Given the description of an element on the screen output the (x, y) to click on. 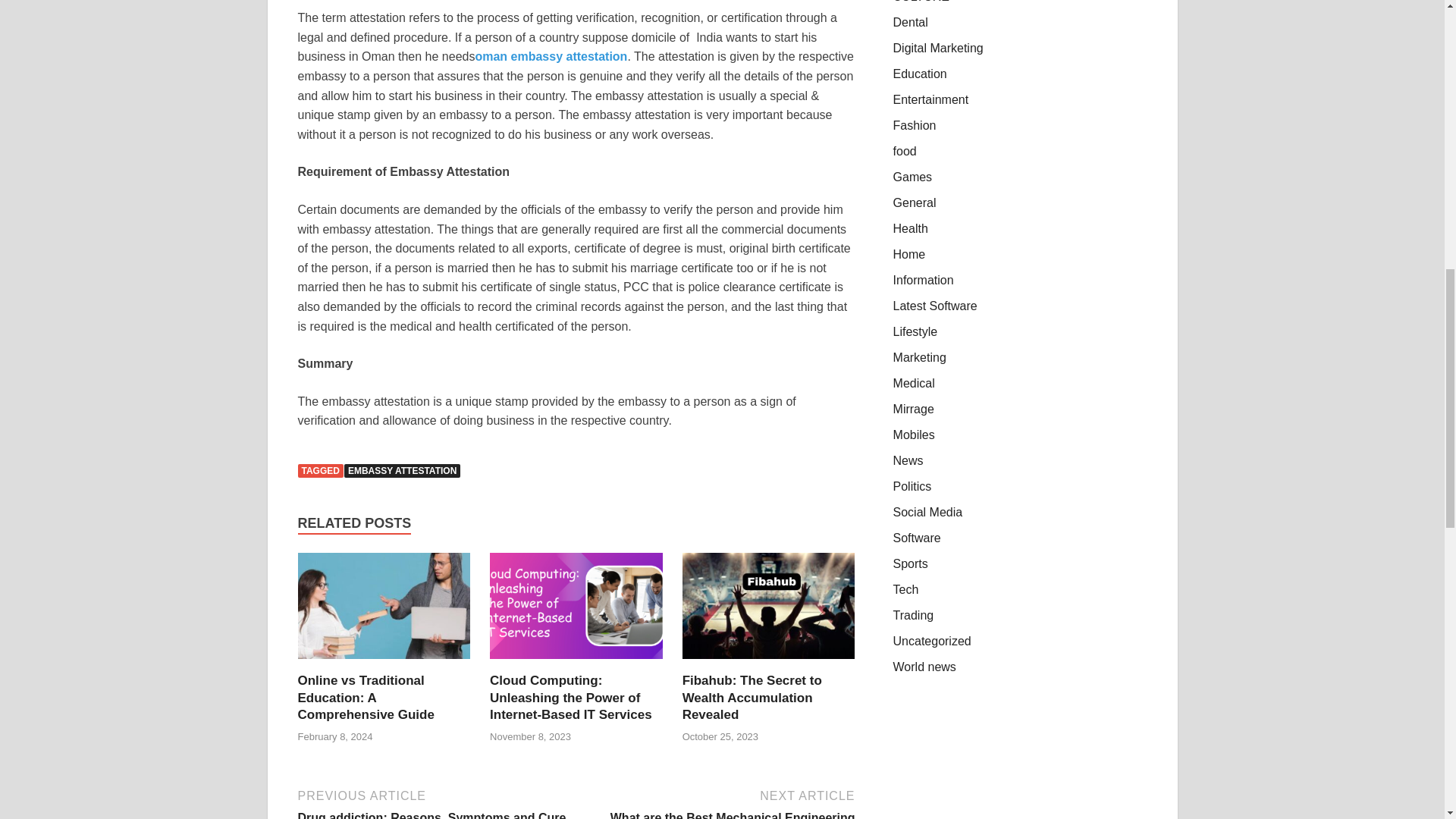
Fibahub: The Secret to Wealth Accumulation Revealed (769, 662)
Online vs Traditional Education: A Comprehensive Guide (365, 697)
Fibahub: The Secret to Wealth Accumulation Revealed (752, 697)
Online vs Traditional Education: A Comprehensive Guide (383, 662)
